Given the description of an element on the screen output the (x, y) to click on. 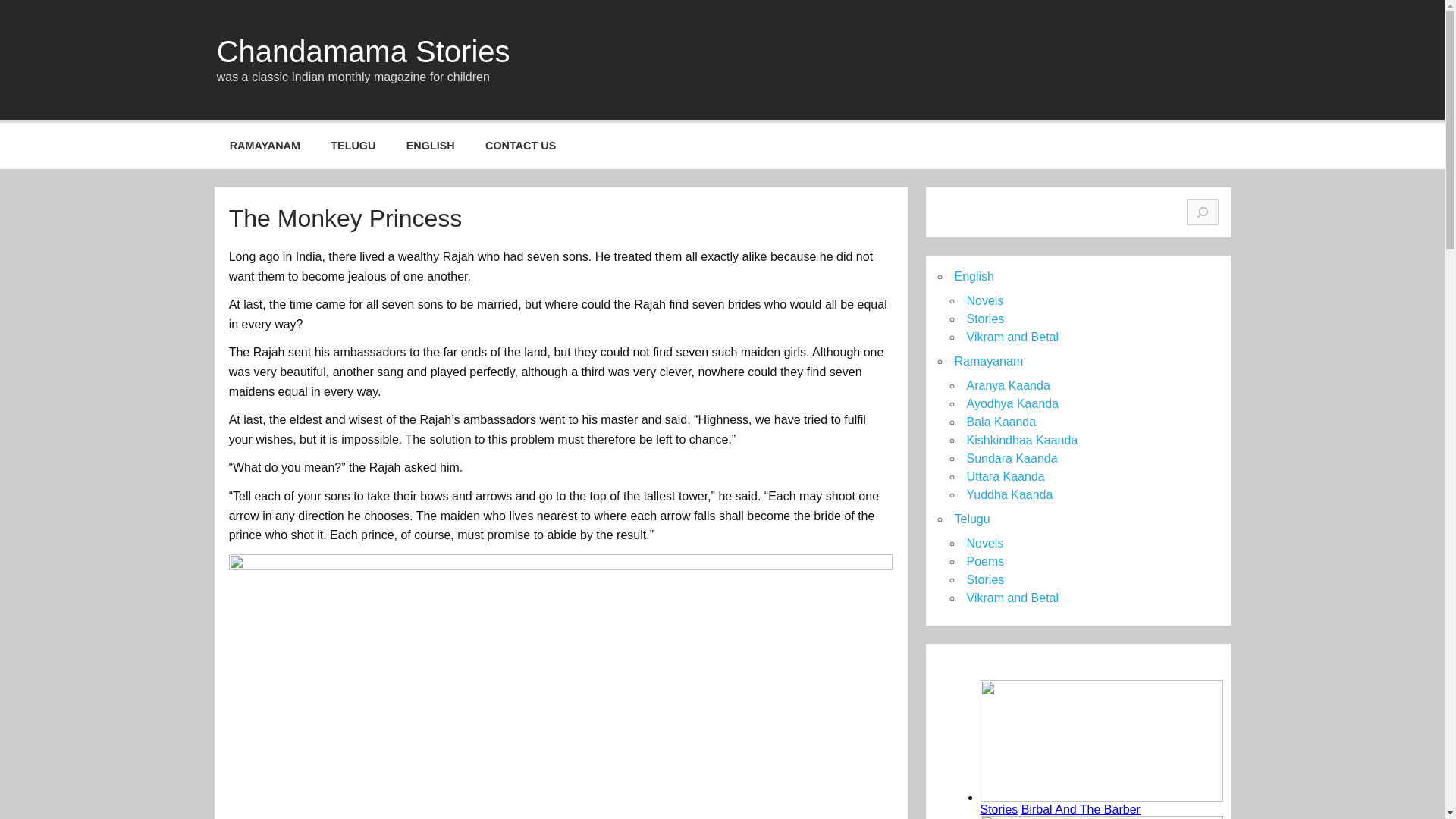
TELUGU (352, 145)
ENGLISH (430, 145)
Aranya Kaanda (1007, 385)
Kishkindhaa Kaanda (1021, 440)
Chandamama Stories (363, 51)
Telugu (971, 518)
Novels (984, 543)
Vikram and Betal (1012, 336)
Bala Kaanda (1000, 421)
Stories (985, 318)
CONTACT US (521, 145)
Ayodhya Kaanda (1012, 403)
Sundara Kaanda (1011, 458)
Ramayanam (988, 360)
Uttara Kaanda (1004, 476)
